Given the description of an element on the screen output the (x, y) to click on. 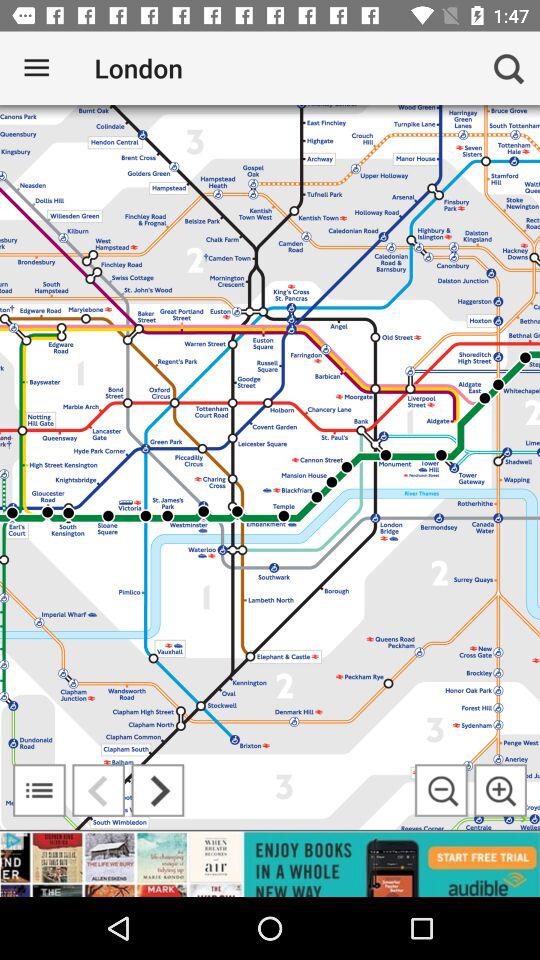
go to previous page (98, 790)
